Given the description of an element on the screen output the (x, y) to click on. 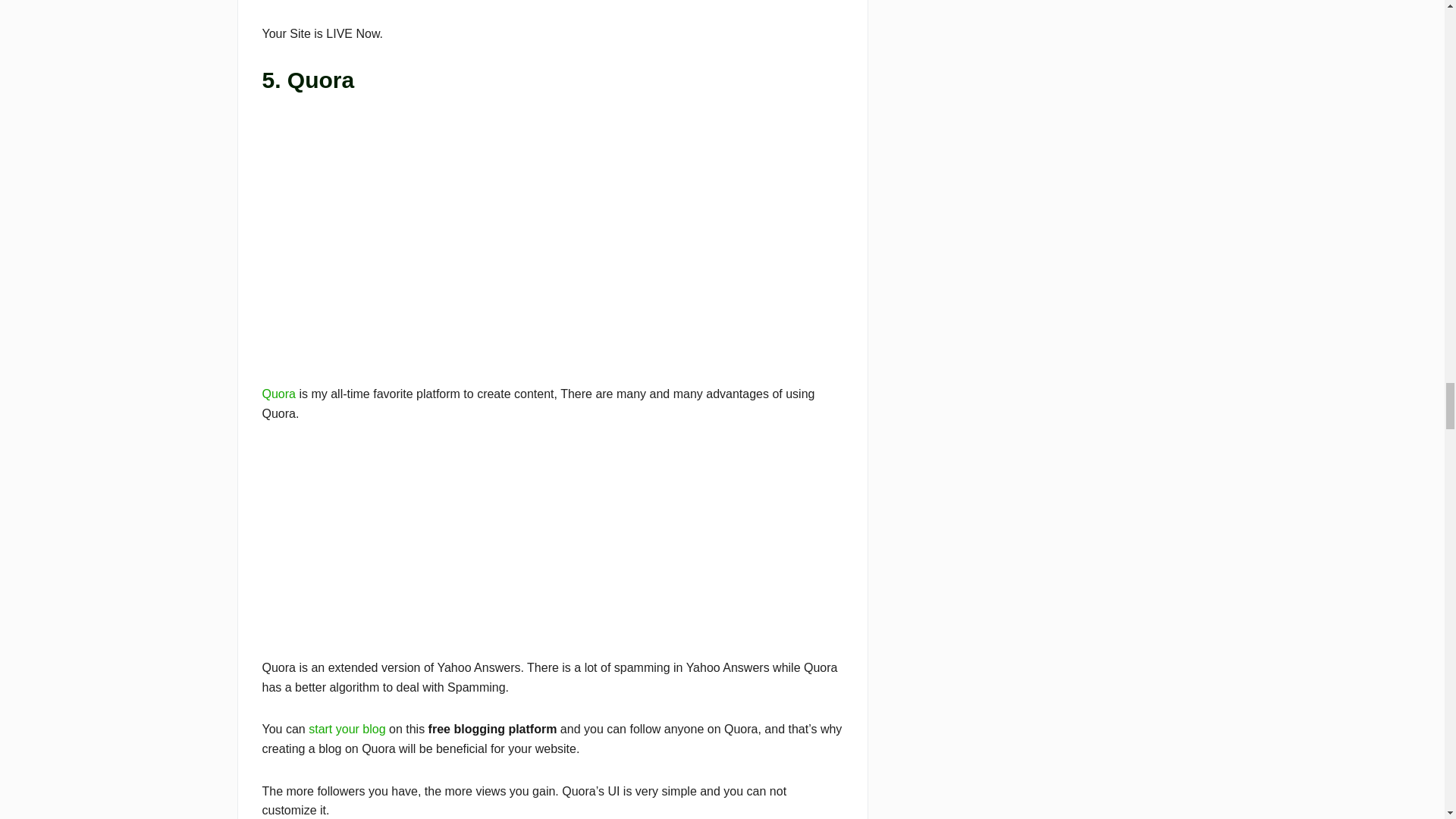
start your blog (346, 728)
Quora (278, 393)
